Given the description of an element on the screen output the (x, y) to click on. 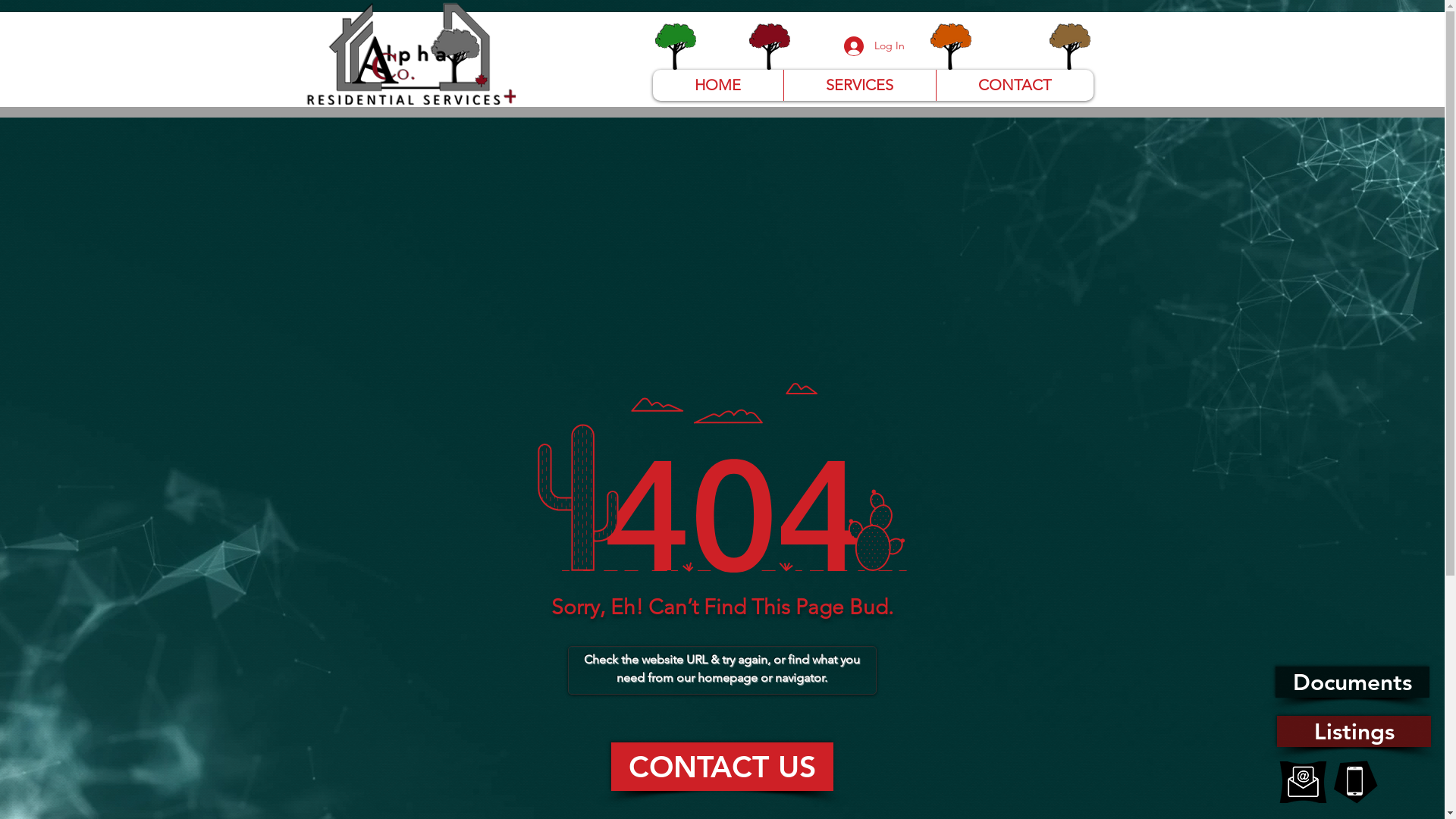
CONTACT Element type: text (1014, 84)
Listings Element type: text (1353, 730)
Documents Element type: text (1352, 681)
HOME Element type: text (717, 84)
Send Alpha Co. an E-Mail! Element type: hover (1303, 782)
Custom Furniture Element type: hover (1069, 46)
Home Inspections Element type: hover (951, 46)
CONTACT US Element type: text (722, 766)
Residential Renovations  Element type: hover (769, 46)
SERVICES Element type: text (858, 84)
Property Management Element type: hover (675, 46)
Log In Element type: text (873, 45)
Alpha Co. Element type: hover (410, 52)
